Given the description of an element on the screen output the (x, y) to click on. 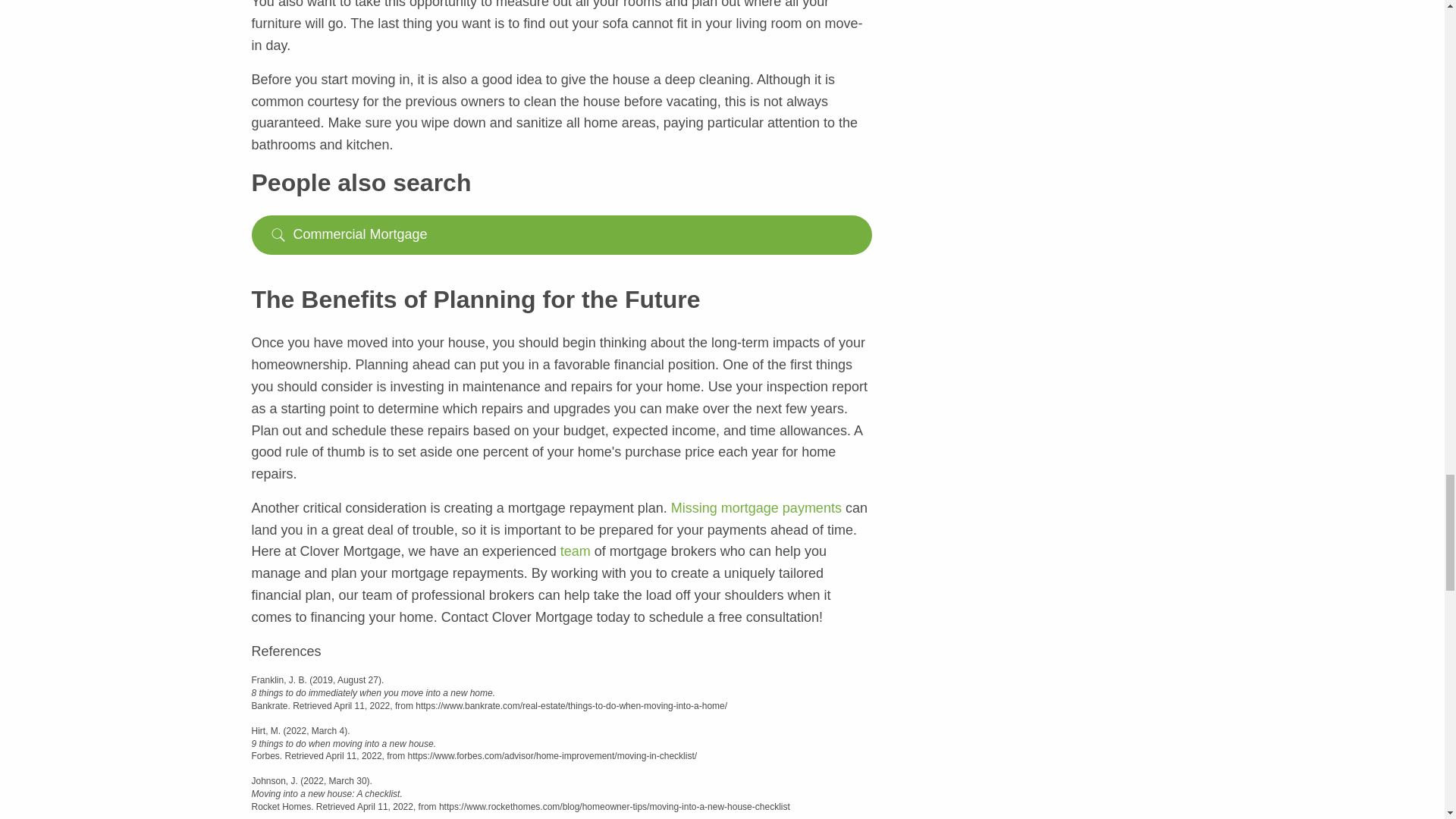
Commercial Mortgage (561, 234)
Missing mortgage payments (758, 507)
team (577, 550)
